Given the description of an element on the screen output the (x, y) to click on. 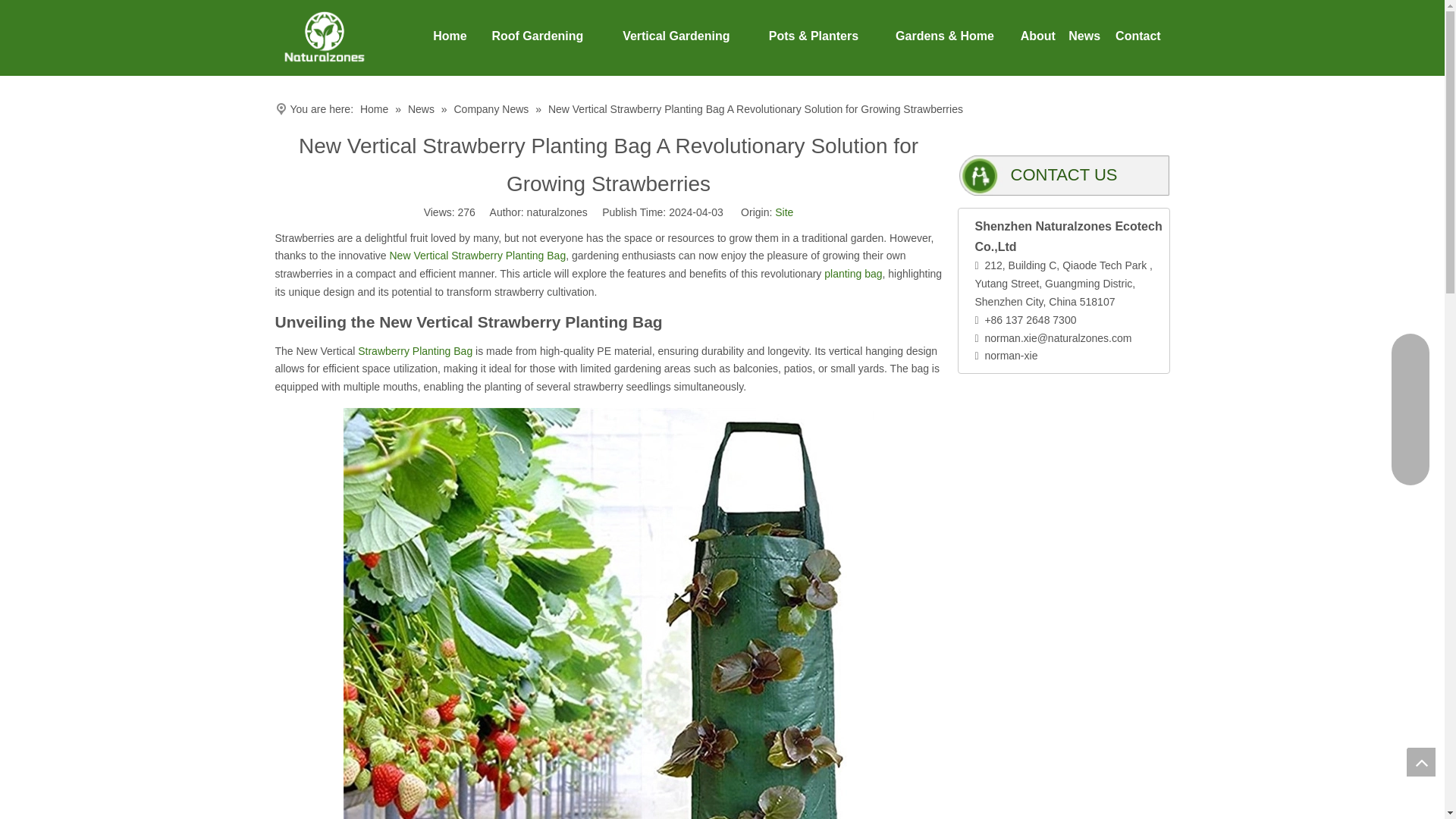
News (1084, 35)
Vertical Gardening (676, 35)
Naturalzones Logo (323, 36)
planting bag (853, 273)
Roof Gardening (538, 35)
Contact (1137, 35)
New Vertical Strawberry Planting Bag (478, 255)
Home (449, 35)
About (1037, 35)
Strawberry Planting Bag is (414, 350)
